Given the description of an element on the screen output the (x, y) to click on. 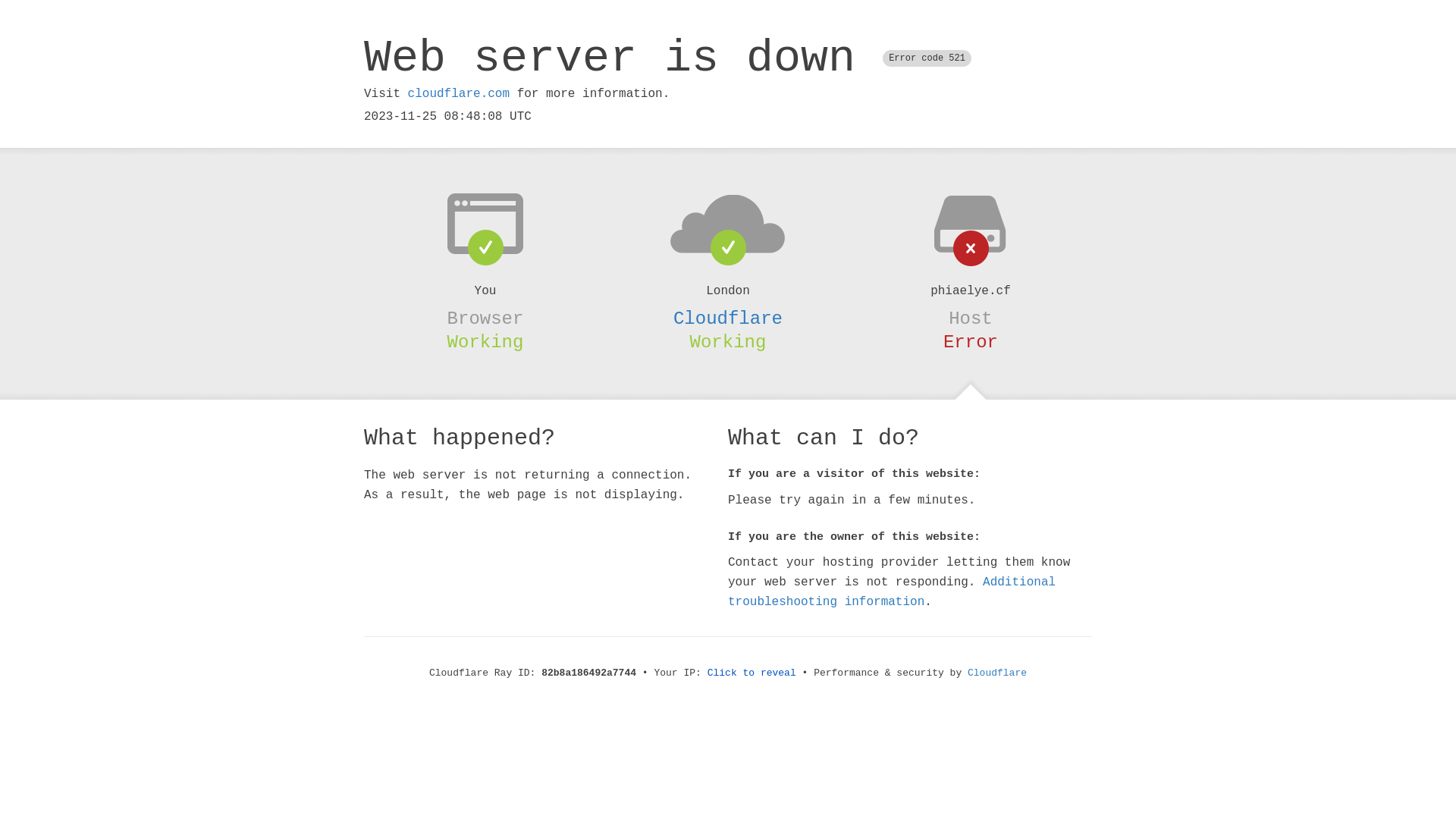
Cloudflare Element type: text (996, 672)
Click to reveal Element type: text (751, 672)
Cloudflare Element type: text (727, 318)
cloudflare.com Element type: text (458, 93)
Additional troubleshooting information Element type: text (891, 591)
